Given the description of an element on the screen output the (x, y) to click on. 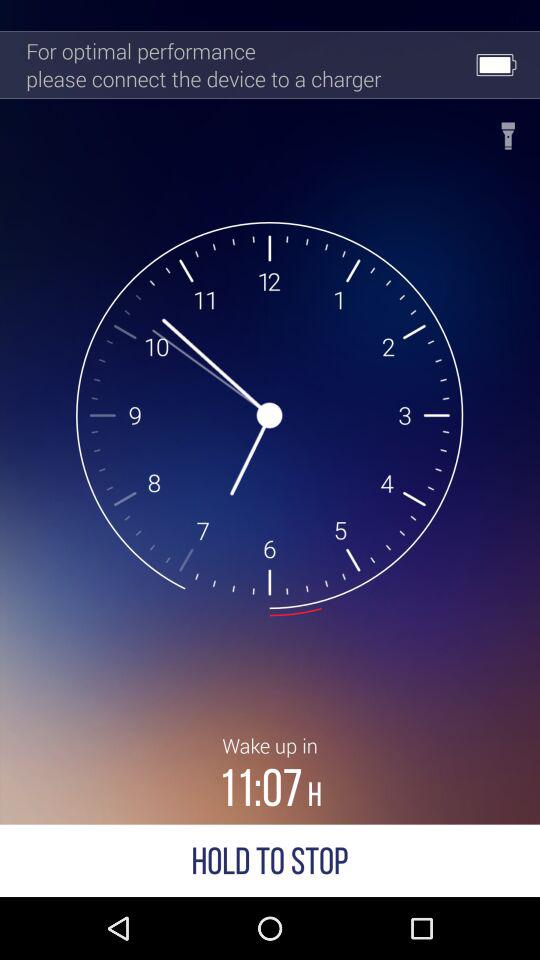
swipe to the hold to stop icon (270, 860)
